Given the description of an element on the screen output the (x, y) to click on. 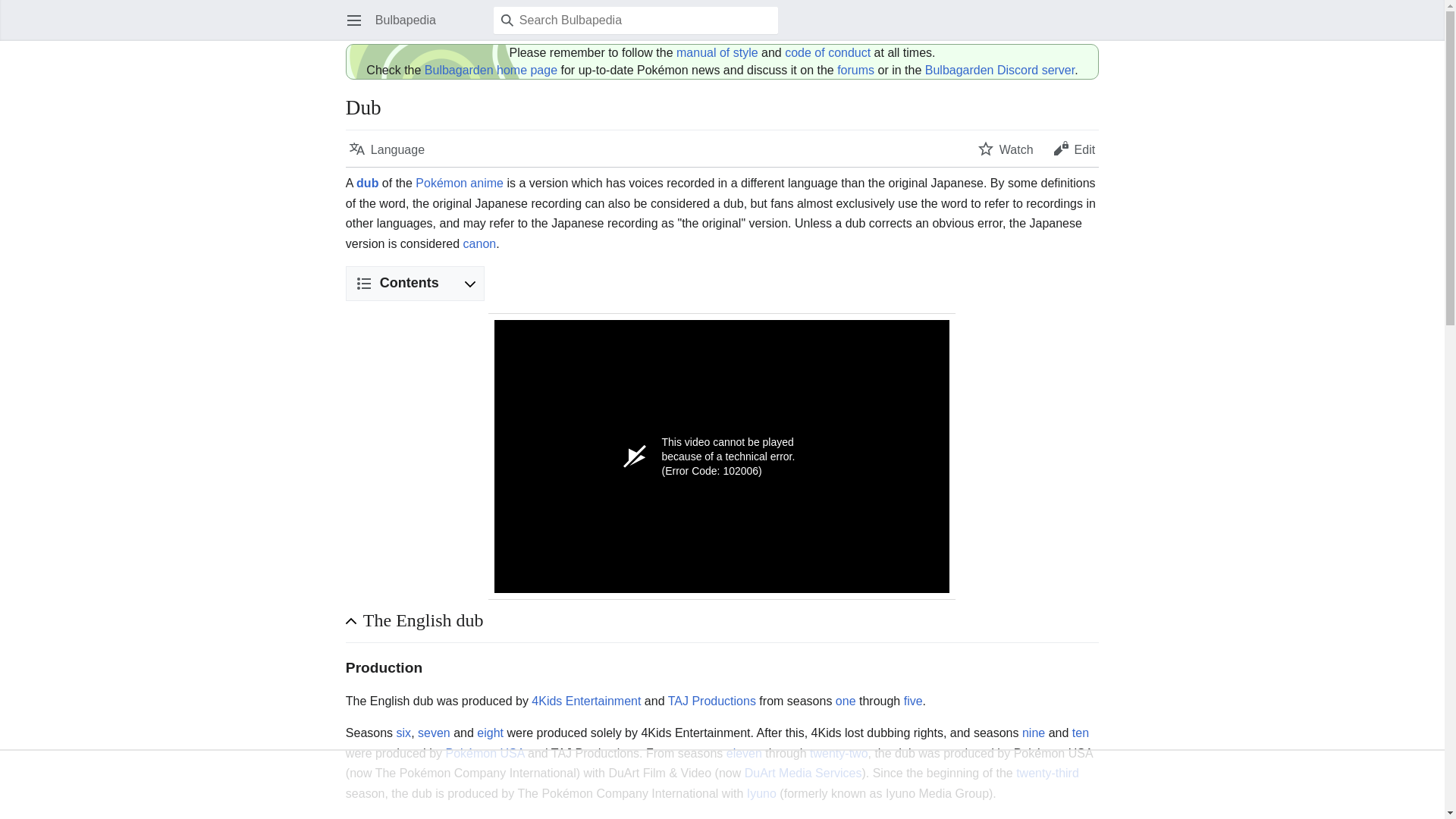
eleven (743, 753)
S10 (1080, 732)
Bulbagarden home page (491, 69)
S09 (1033, 732)
Bulbagarden Discord server (999, 69)
manual of style (717, 51)
twenty-third (1047, 772)
Edit (1074, 148)
4Kids Entertainment (585, 700)
one (845, 700)
